Given the description of an element on the screen output the (x, y) to click on. 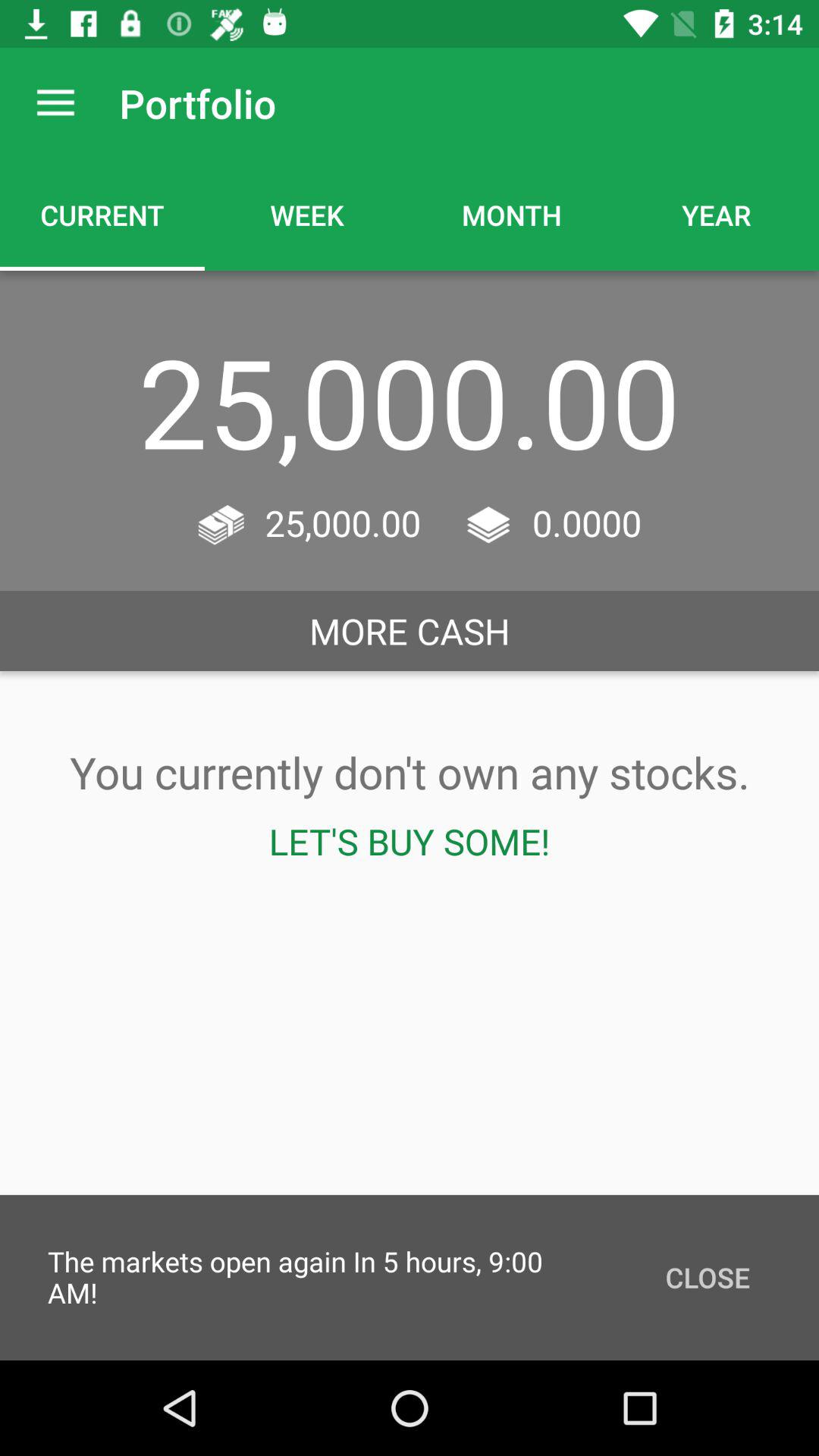
turn off the icon to the left of the portfolio item (55, 103)
